Given the description of an element on the screen output the (x, y) to click on. 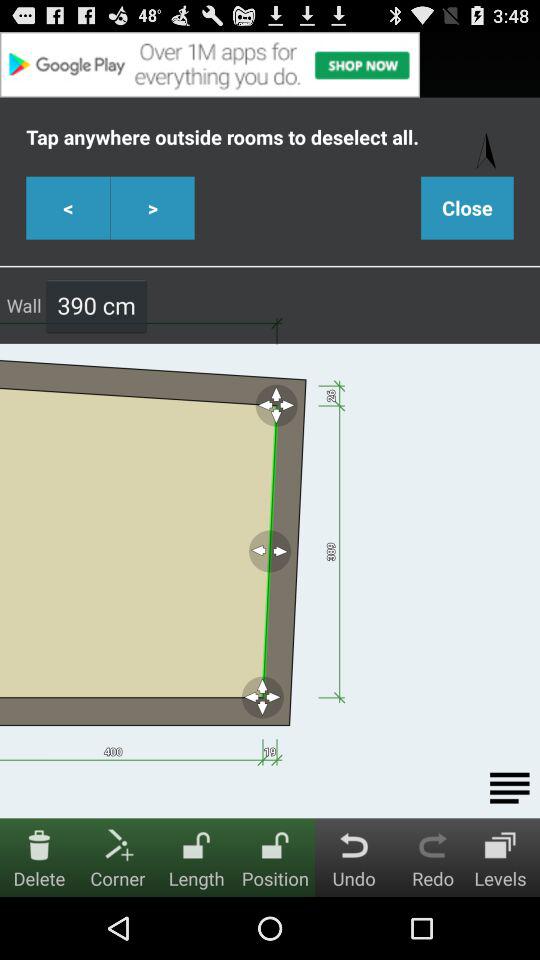
advertisement (270, 64)
